Given the description of an element on the screen output the (x, y) to click on. 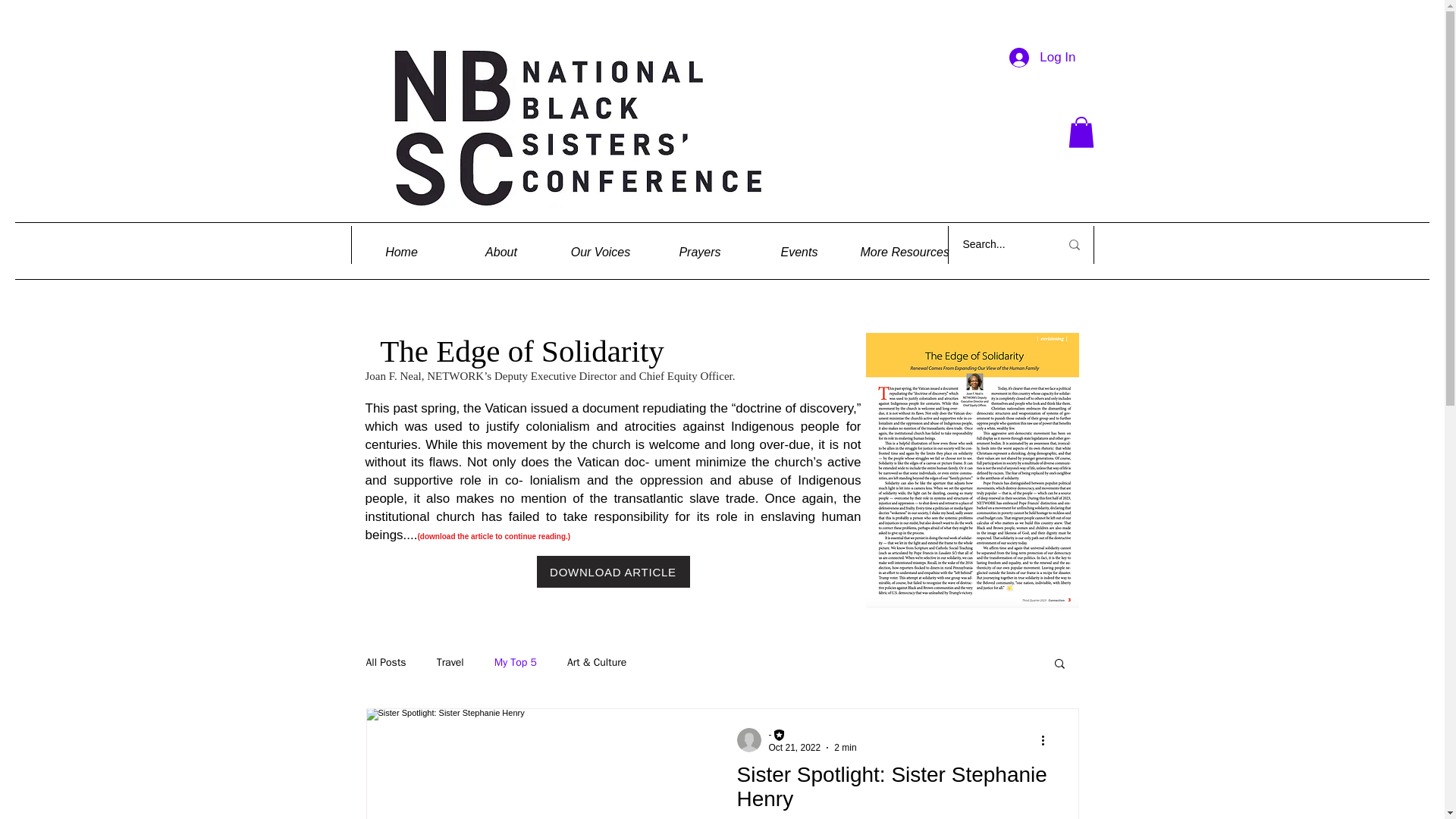
About (501, 252)
Sister Spotlight: Sister Stephanie Henry (893, 790)
Events (798, 252)
All Posts (385, 662)
2 min (845, 747)
Prayers (699, 252)
Travel (450, 662)
Home (401, 252)
DOWNLOAD ARTICLE (613, 572)
My Top 5 (516, 662)
